Given the description of an element on the screen output the (x, y) to click on. 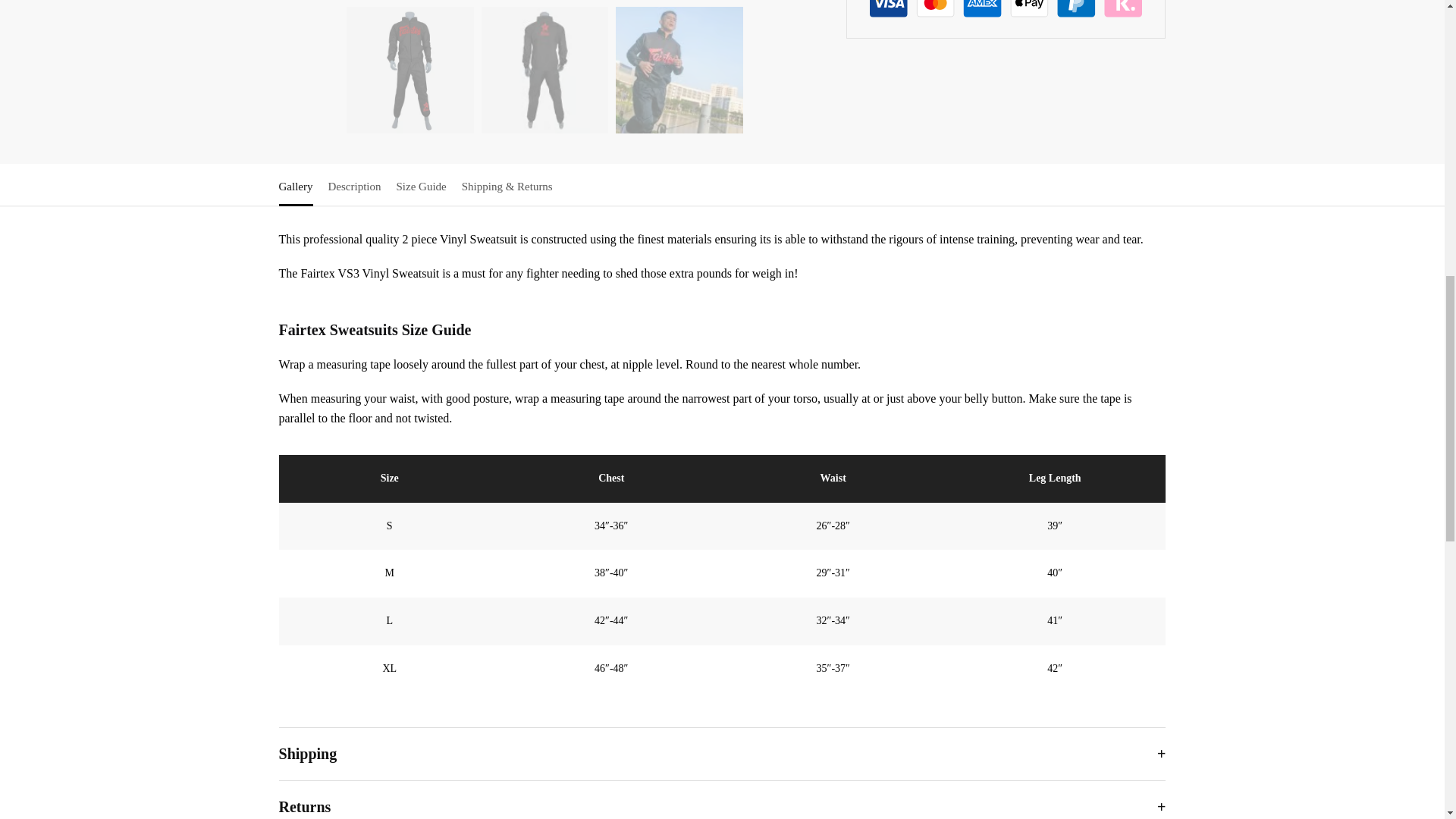
51d7-vs3-black-red-0-1-1500x1500-1 (410, 69)
ff82-vs3-black-red-2-0-1-1500x1500-1 (544, 69)
b87a-vs3-black-red-3-0-1-1500x1500-1 (678, 69)
